Given the description of an element on the screen output the (x, y) to click on. 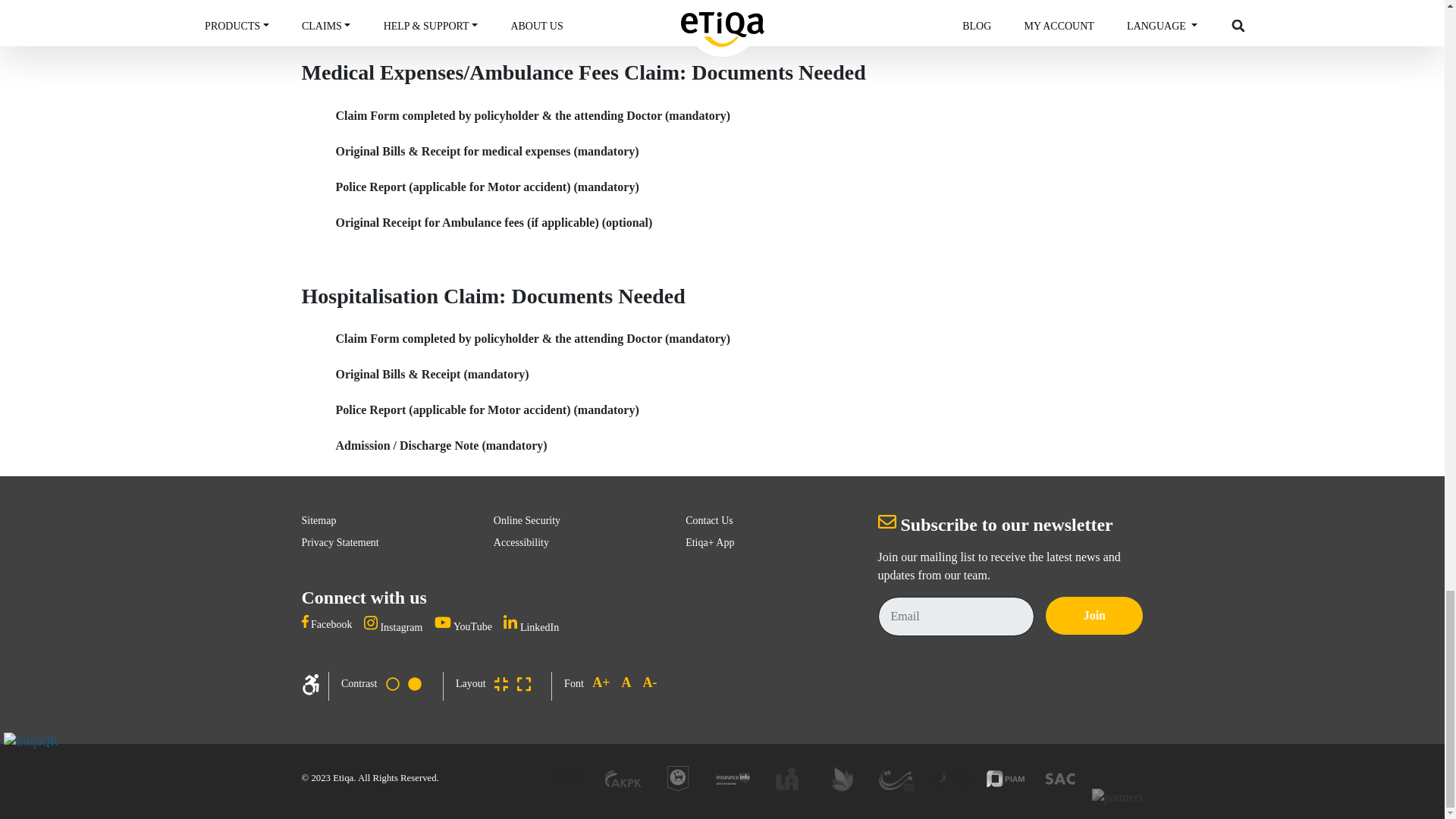
Set night contrast mode (414, 682)
Set wide layout mode (523, 682)
Set default contrast mode (391, 682)
Set fixed layout mode (501, 682)
